Given the description of an element on the screen output the (x, y) to click on. 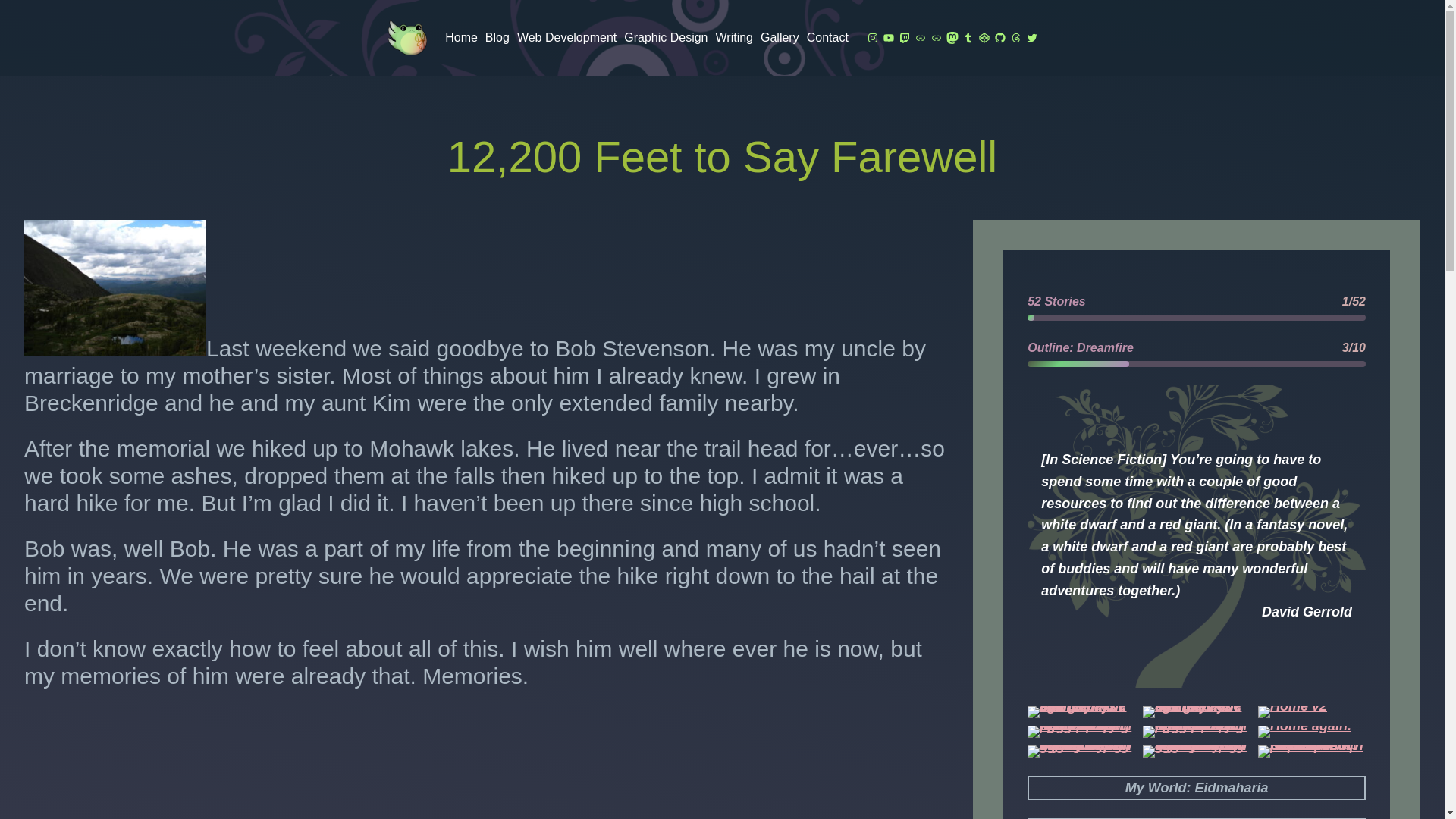
Graphic Design (665, 37)
My World: Eidmaharia (1196, 787)
Web Development (565, 37)
Contact (827, 37)
Tumblr (968, 37)
YouTube (888, 37)
Home (461, 37)
Twitter (1032, 37)
Gallery (779, 37)
Instagram (872, 37)
Mastodon (952, 37)
Link (920, 37)
Blog (496, 37)
Link (936, 37)
